Given the description of an element on the screen output the (x, y) to click on. 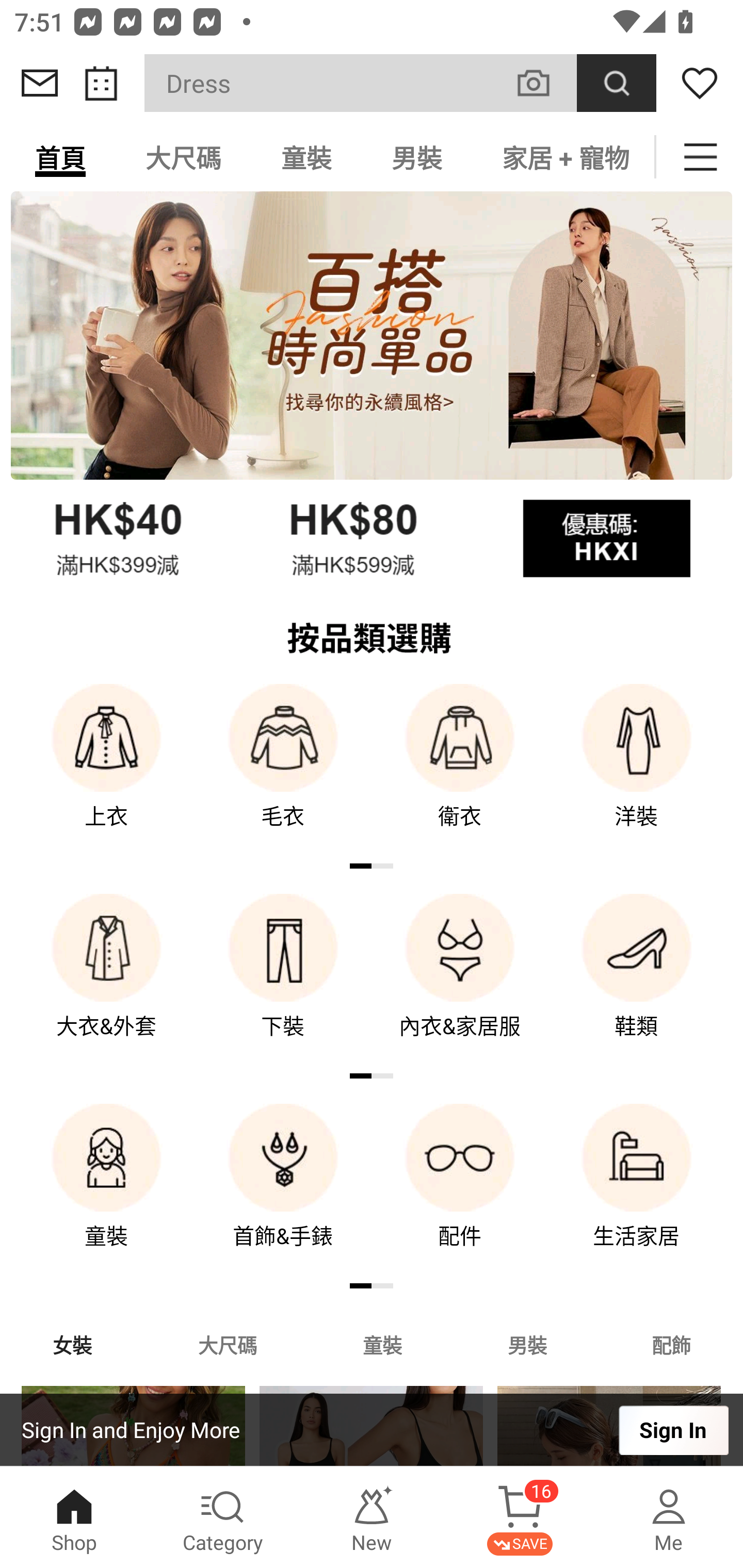
Wishlist (699, 82)
VISUAL SEARCH (543, 82)
首頁 (60, 156)
大尺碼 (183, 156)
童裝 (306, 156)
男裝 (416, 156)
家居 + 寵物 (563, 156)
上衣 (105, 769)
毛衣 (282, 769)
衛衣 (459, 769)
洋裝 (636, 769)
大衣&外套 (105, 979)
下裝 (282, 979)
內衣&家居服 (459, 979)
鞋類 (636, 979)
童裝 (105, 1189)
首飾&手錶 (282, 1189)
配件 (459, 1189)
生活家居 (636, 1189)
女裝 (72, 1344)
大尺碼 (226, 1344)
童裝 (381, 1344)
男裝 (527, 1344)
配飾 (671, 1344)
Sign In and Enjoy More Sign In (371, 1429)
Category (222, 1517)
New (371, 1517)
Cart 16 SAVE (519, 1517)
Me (668, 1517)
